Given the description of an element on the screen output the (x, y) to click on. 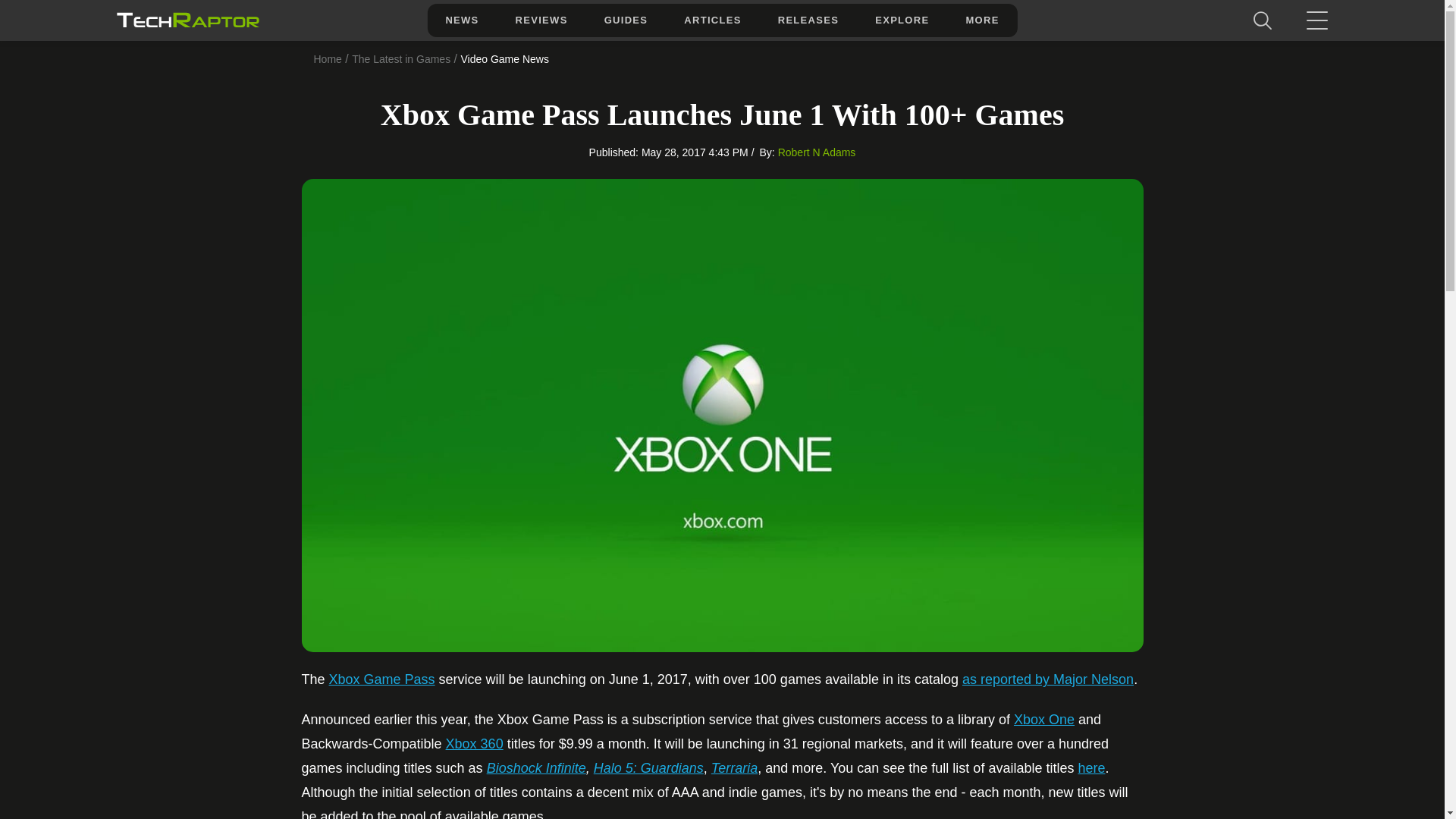
GUIDES (626, 20)
NEWS (461, 20)
REVIEWS (541, 20)
ARTICLES (711, 20)
RELEASES (807, 20)
TechRaptor Home (187, 20)
